Given the description of an element on the screen output the (x, y) to click on. 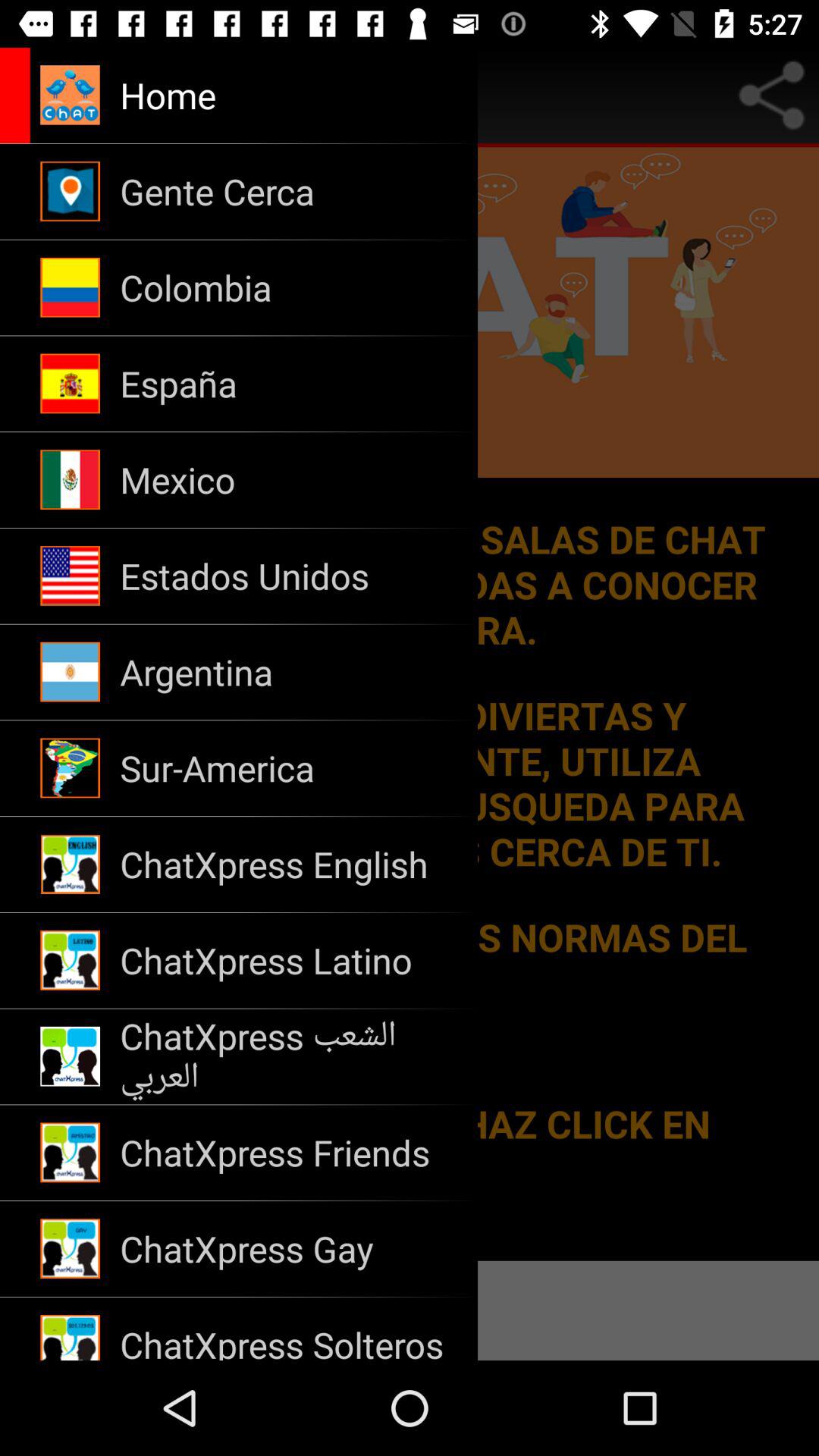
button to go to the application home (178, 95)
